Given the description of an element on the screen output the (x, y) to click on. 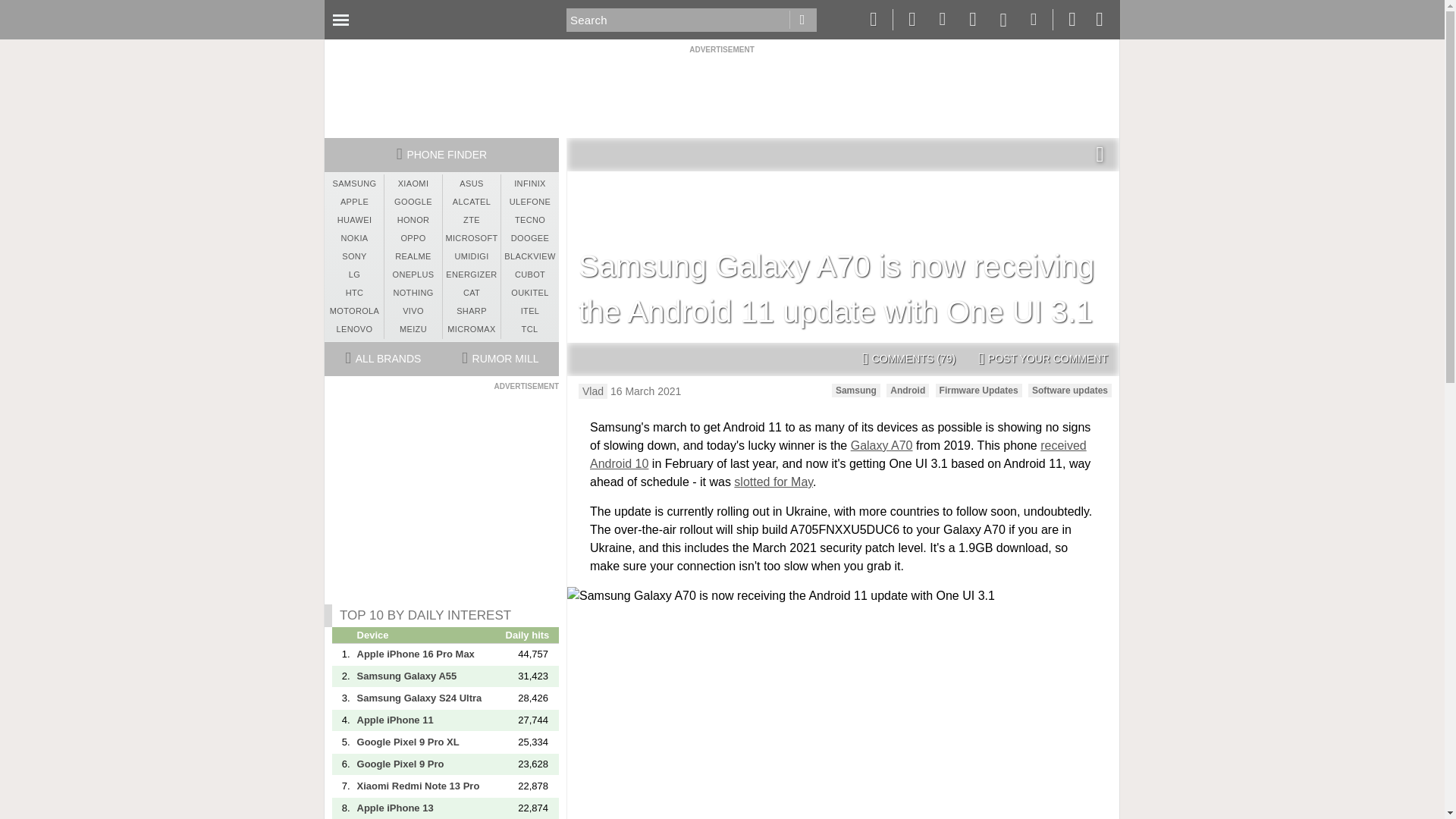
Android (907, 390)
POST YOUR COMMENT (1042, 359)
Firmware Updates (979, 390)
Samsung (855, 390)
Vlad (592, 391)
Software updates (1069, 390)
Go (802, 19)
received Android 10 (837, 454)
slotted for May (772, 481)
Go (802, 19)
